Given the description of an element on the screen output the (x, y) to click on. 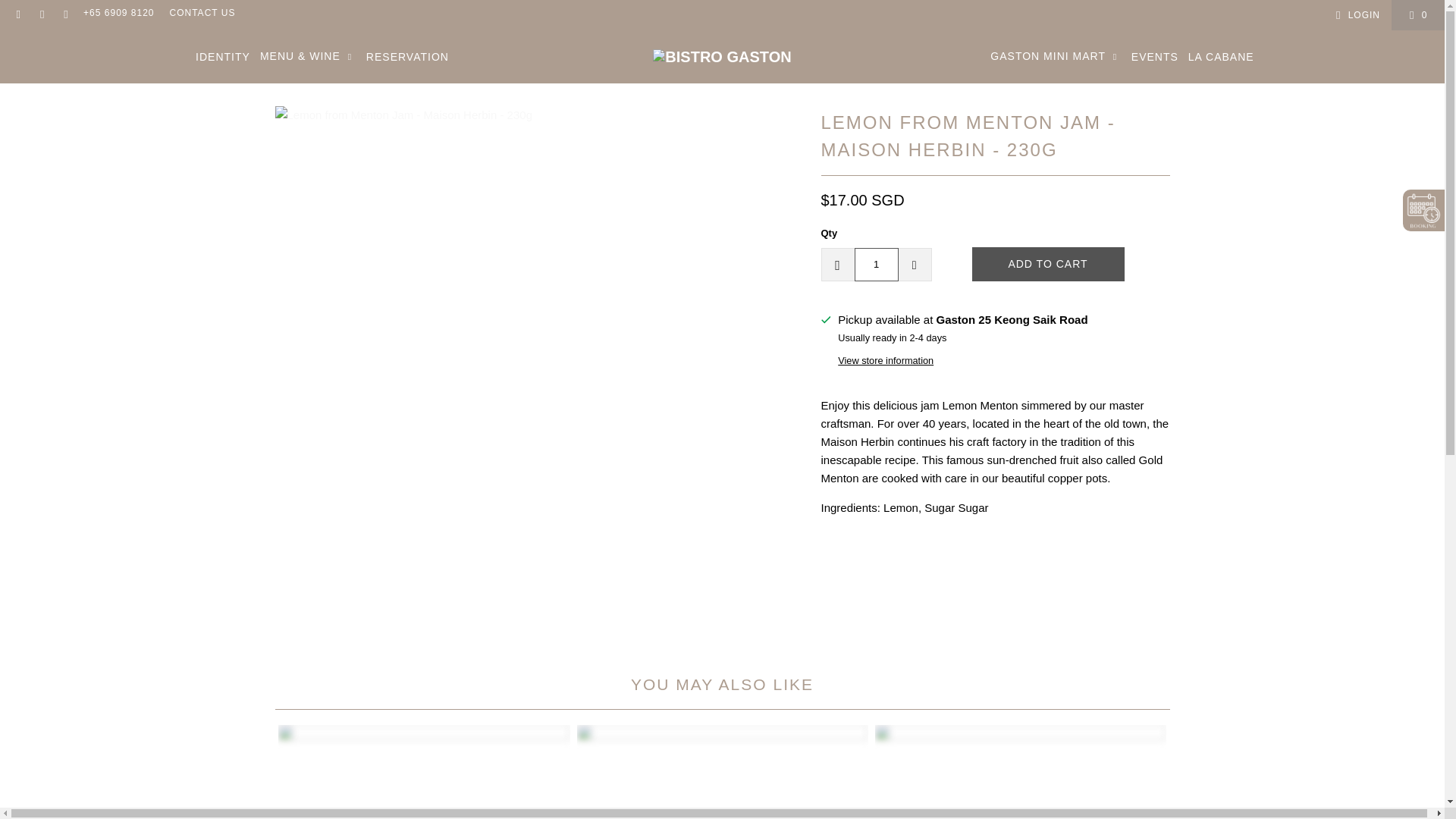
Email Bistro Gaston (65, 14)
Bistro Gaston on Instagram (41, 14)
Bistro Gaston on Facebook (17, 14)
1 (875, 263)
Bistro Gaston (721, 56)
My Account  (1355, 14)
